Given the description of an element on the screen output the (x, y) to click on. 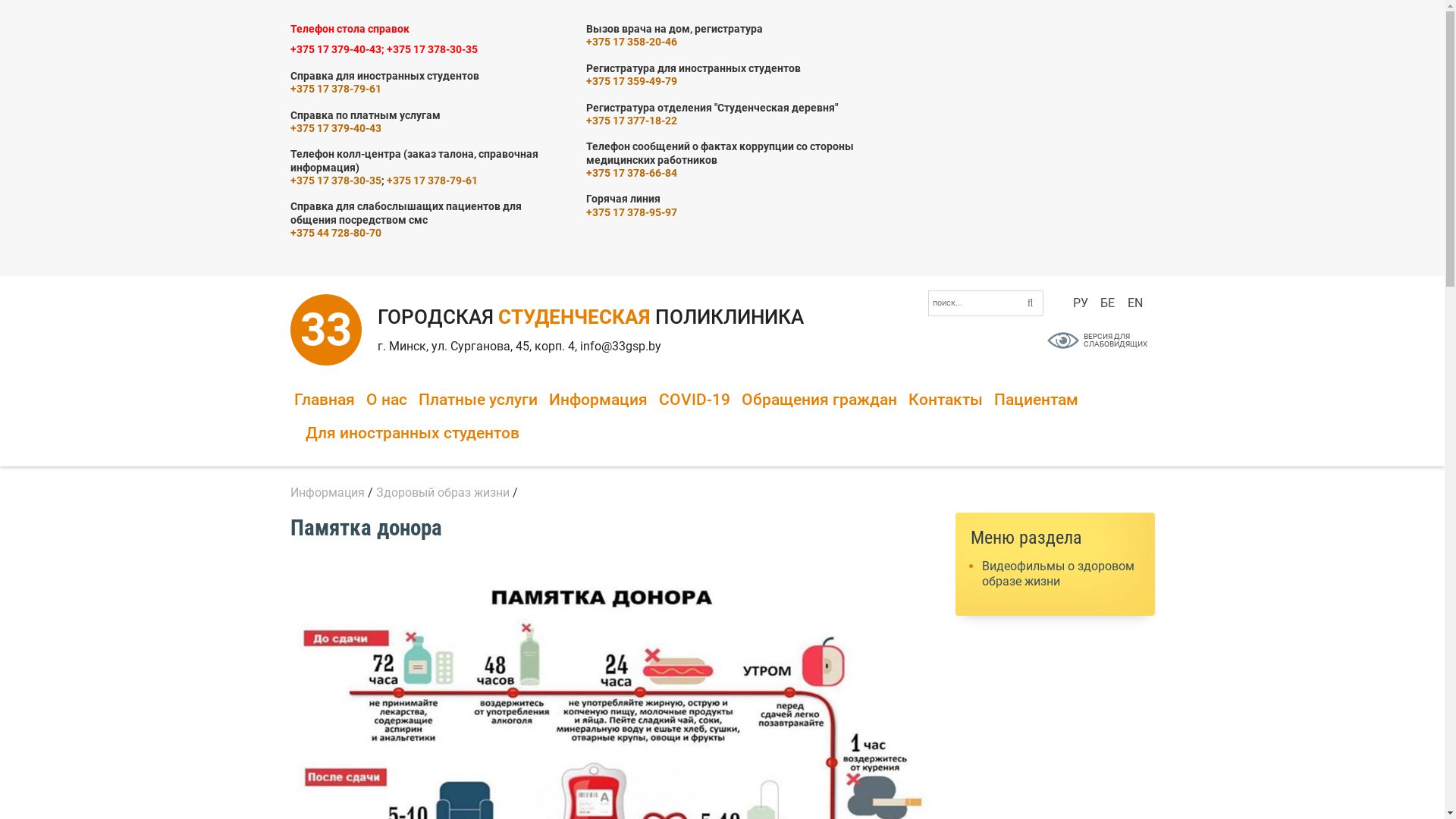
EN Element type: text (1134, 303)
+375 17 378-95-97 Element type: text (630, 212)
+375 17 358-20-46 Element type: text (630, 41)
COVID-19 Element type: text (693, 400)
+375 17 378-30-35 Element type: text (431, 49)
+375 17 379-40-43; Element type: text (336, 49)
+375 17 378-66-84 Element type: text (630, 172)
+375 17 377-18-22 Element type: text (630, 120)
+375 17 379-40-43 Element type: text (334, 128)
+375 44 728-80-70 Element type: text (334, 232)
+375 17 378-79-61 Element type: text (431, 180)
+375 17 378-30-35 Element type: text (334, 180)
+375 17 359-49-79 Element type: text (630, 81)
info@33gsp.by Element type: text (619, 345)
+375 17 378-79-61 Element type: text (334, 88)
